Given the description of an element on the screen output the (x, y) to click on. 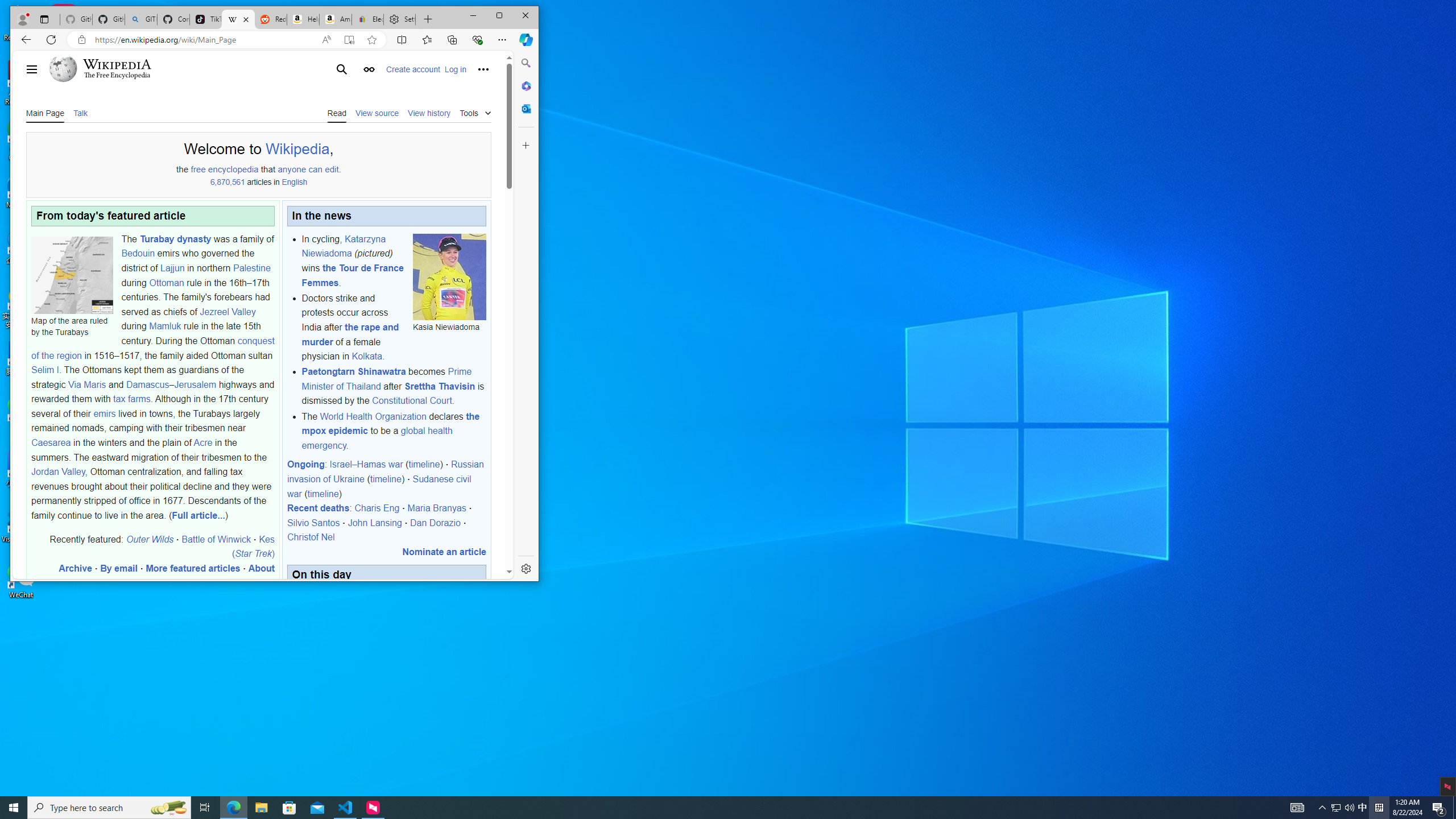
Create account (412, 68)
Caesarea (50, 442)
Personal tools (482, 68)
Read (336, 111)
the rape and murder (349, 334)
User Promoted Notification Area (1342, 807)
Map of the area ruled by the Turabays (71, 274)
View history (1335, 807)
